Given the description of an element on the screen output the (x, y) to click on. 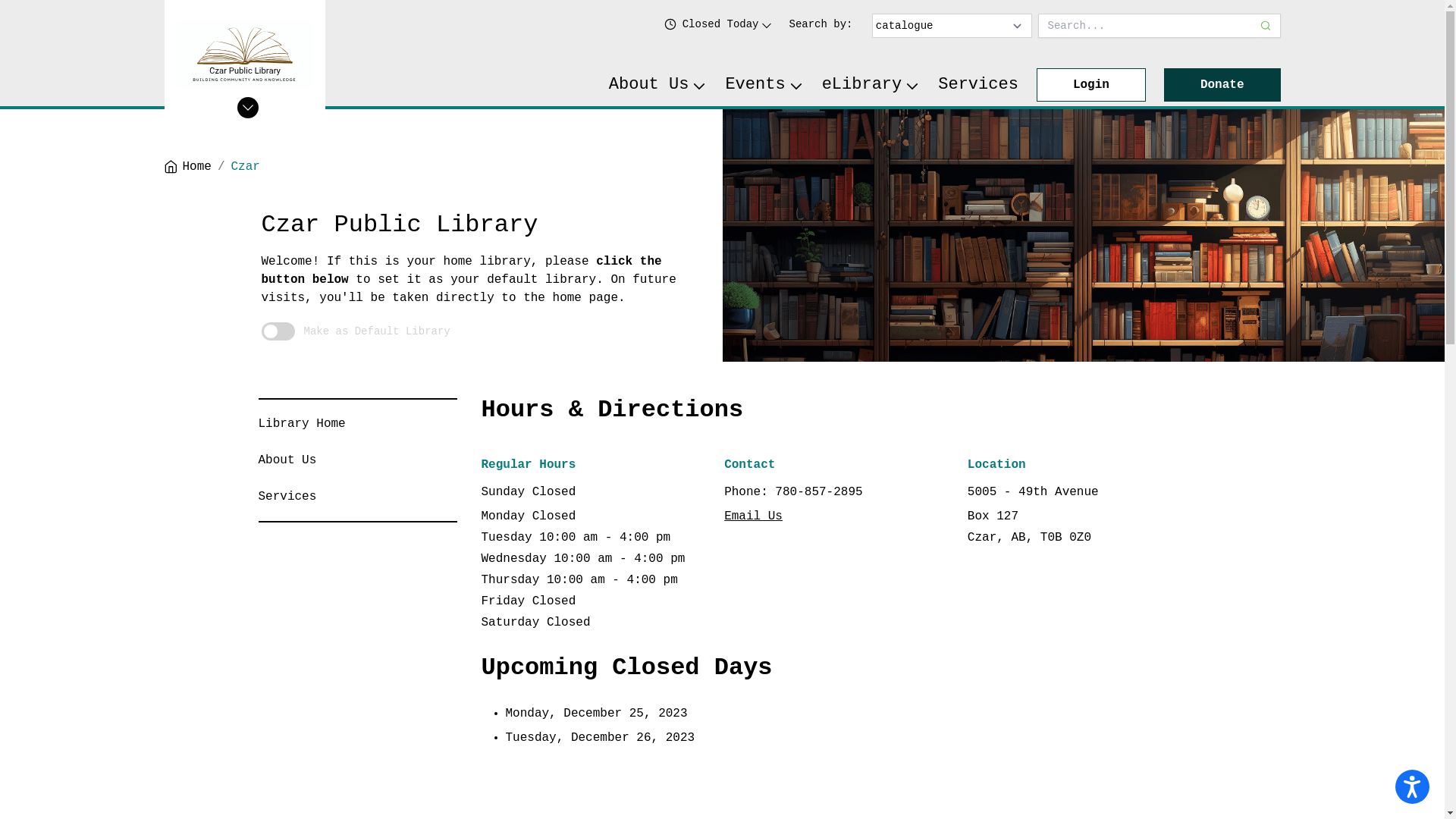
About Us Element type: text (286, 460)
Services Element type: text (286, 496)
Events Element type: text (763, 84)
Czar Element type: text (245, 166)
eLibrary Element type: text (871, 84)
Login Element type: text (1090, 84)
Email Us Element type: text (753, 516)
Home Element type: text (186, 166)
Services Element type: text (978, 84)
Library Home Element type: text (301, 423)
Donate Element type: text (1222, 84)
About Us Element type: text (657, 84)
